Given the description of an element on the screen output the (x, y) to click on. 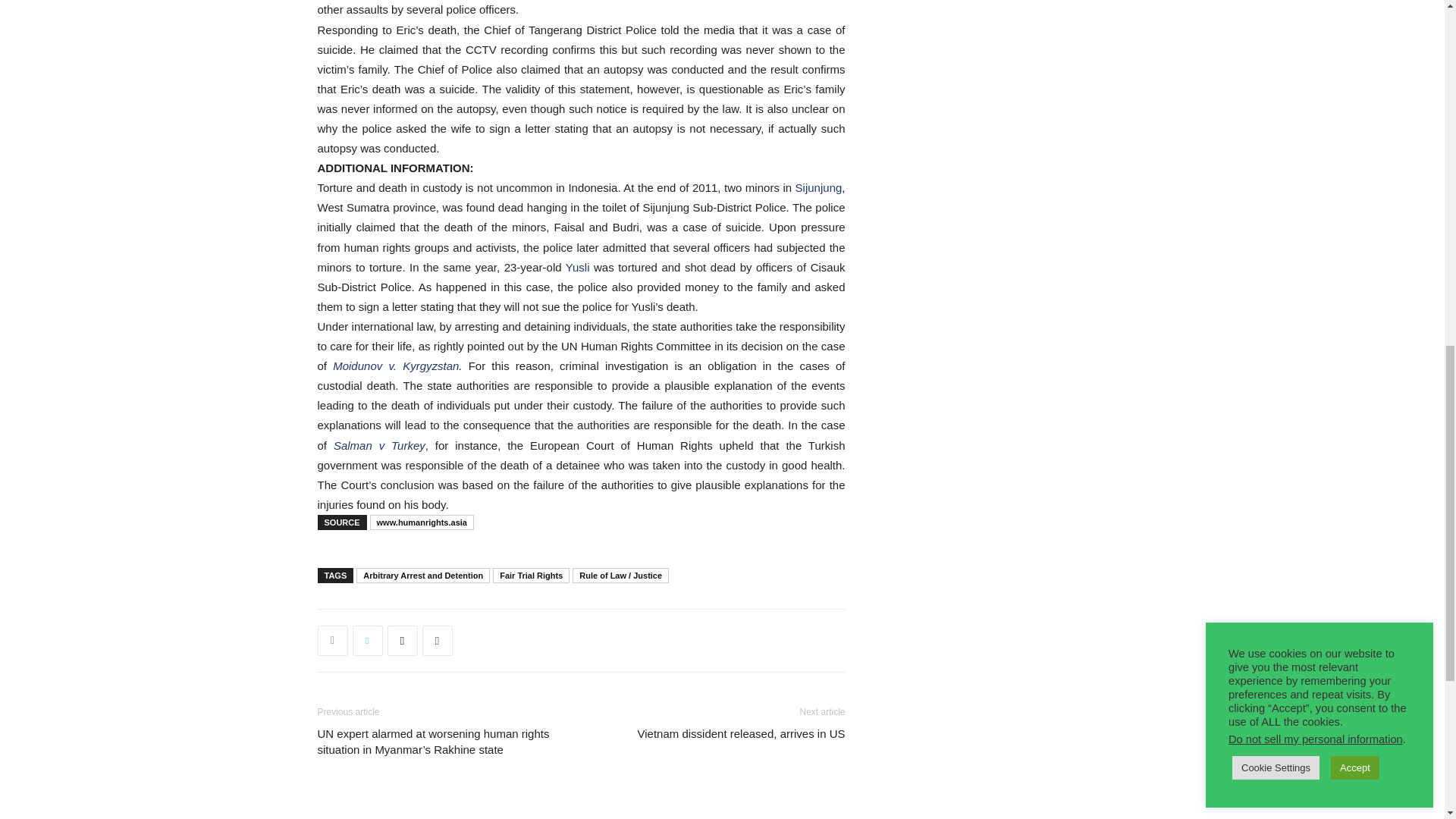
www.humanrights.asia (421, 522)
